Given the description of an element on the screen output the (x, y) to click on. 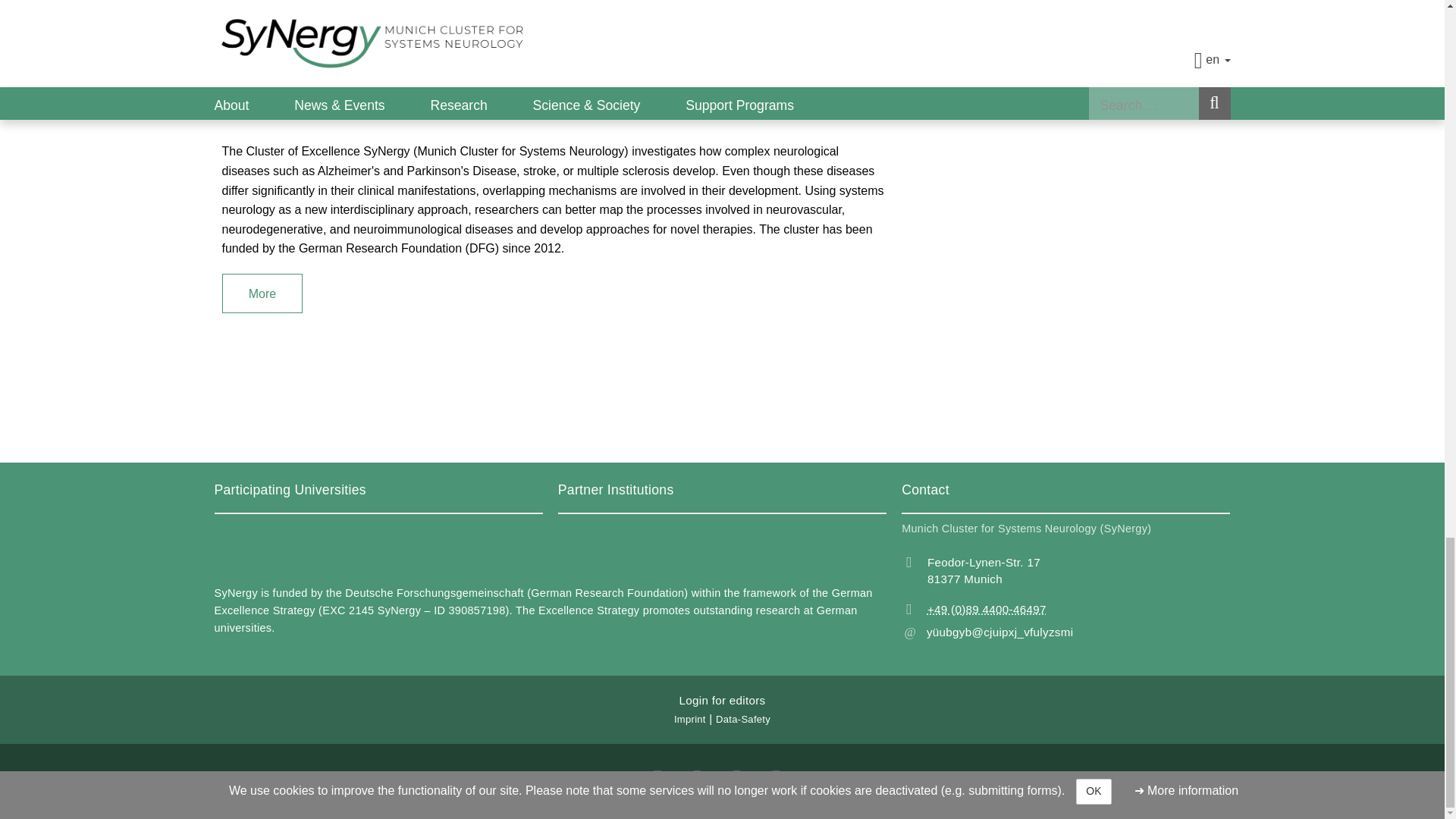
Instagram (657, 771)
Address (1065, 571)
Twitter (737, 771)
Telephone (1065, 610)
YouTube (697, 771)
